Given the description of an element on the screen output the (x, y) to click on. 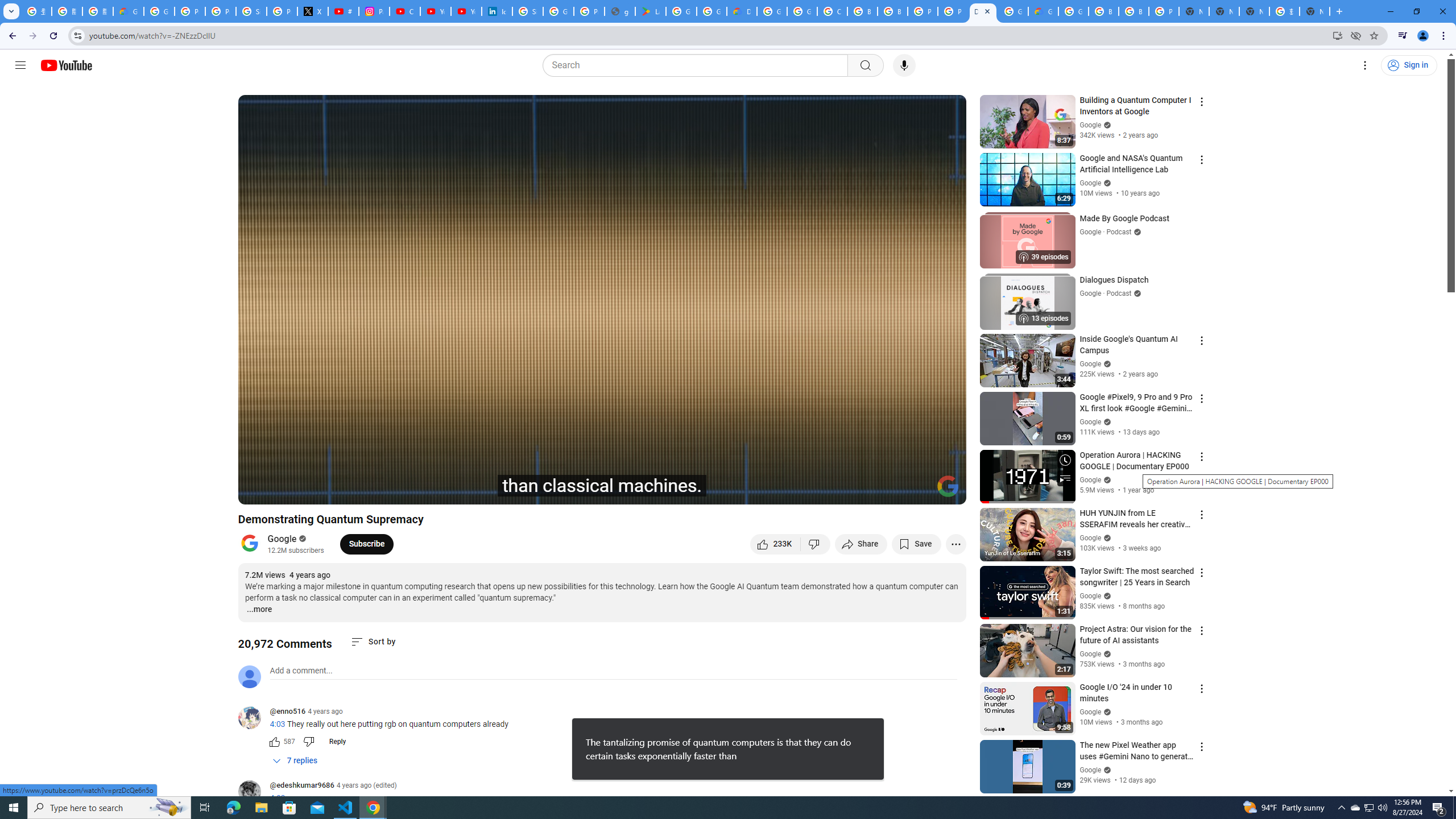
Channel watermark (947, 486)
Mute (m) (312, 490)
Google Cloud Privacy Notice (127, 11)
like this video along with 233,071 other people (774, 543)
YouTube Culture & Trends - YouTube Top 10, 2021 (465, 11)
Pause (k) (257, 490)
@enno516 (287, 711)
Share (861, 543)
